Given the description of an element on the screen output the (x, y) to click on. 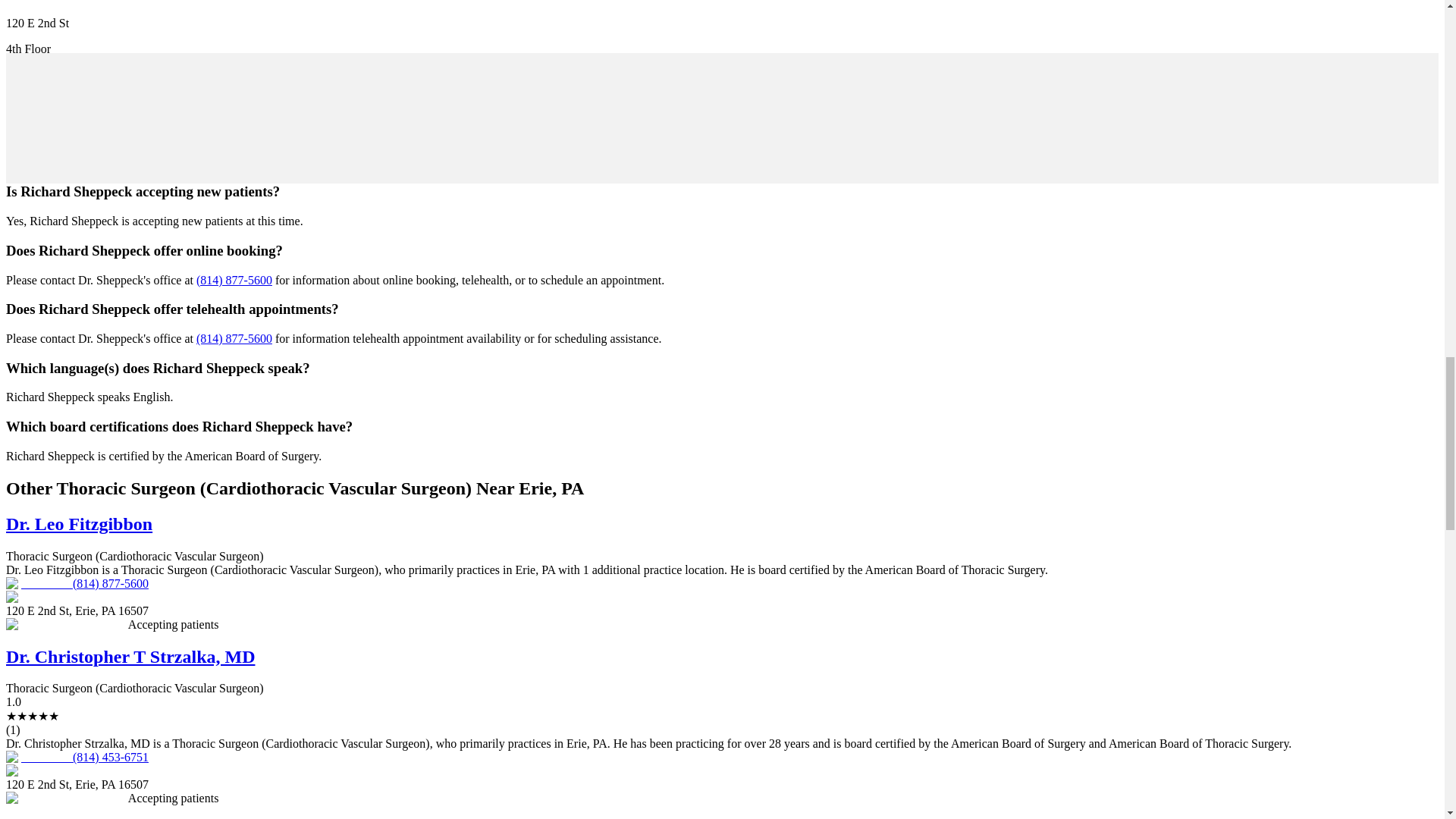
Get Directions (41, 125)
